Given the description of an element on the screen output the (x, y) to click on. 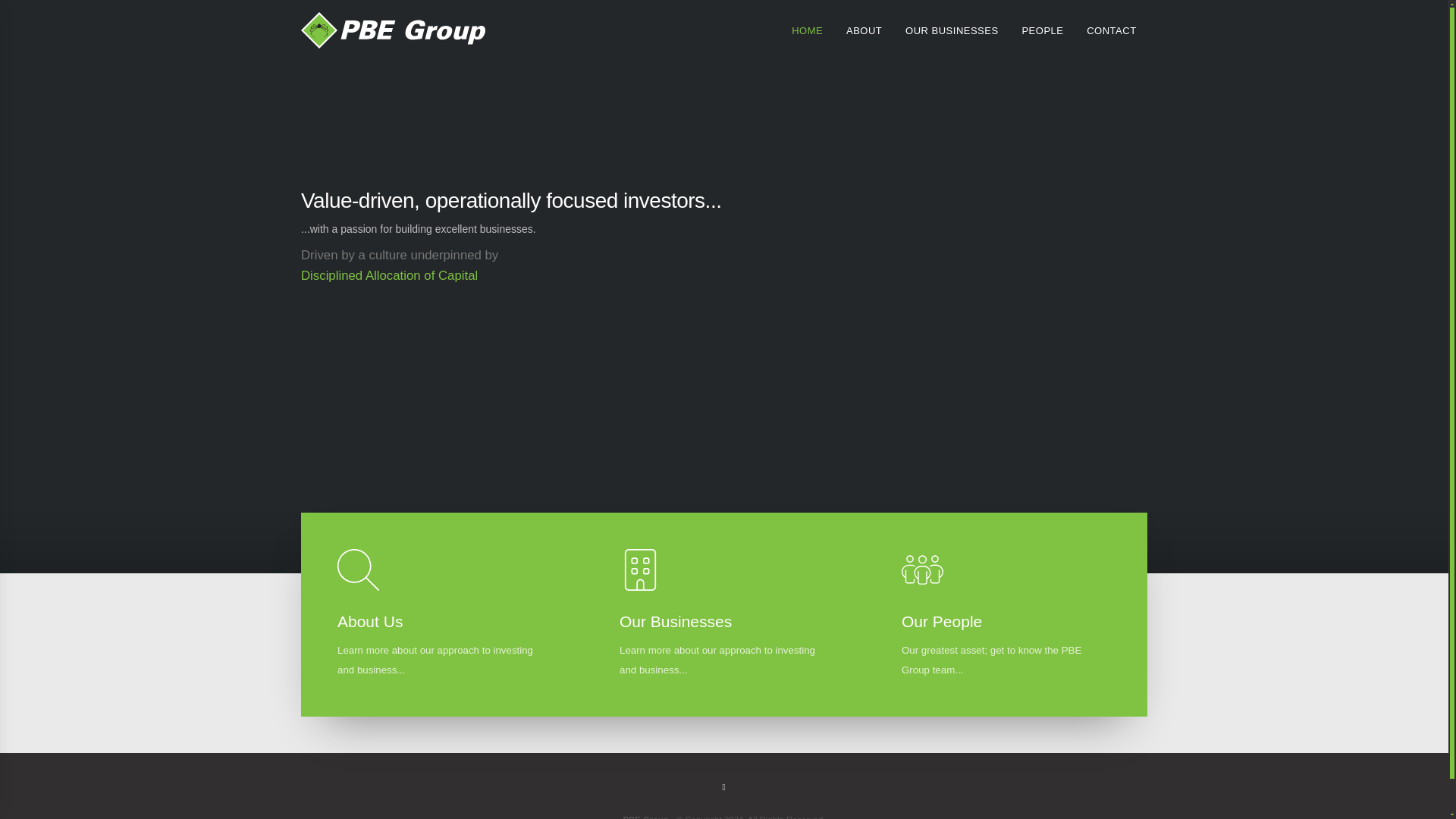
CONTACT (1111, 30)
View PBE Group on LinkedIn (723, 786)
OUR BUSINESSES (952, 30)
ABOUT (864, 30)
PEOPLE (1042, 30)
